Given the description of an element on the screen output the (x, y) to click on. 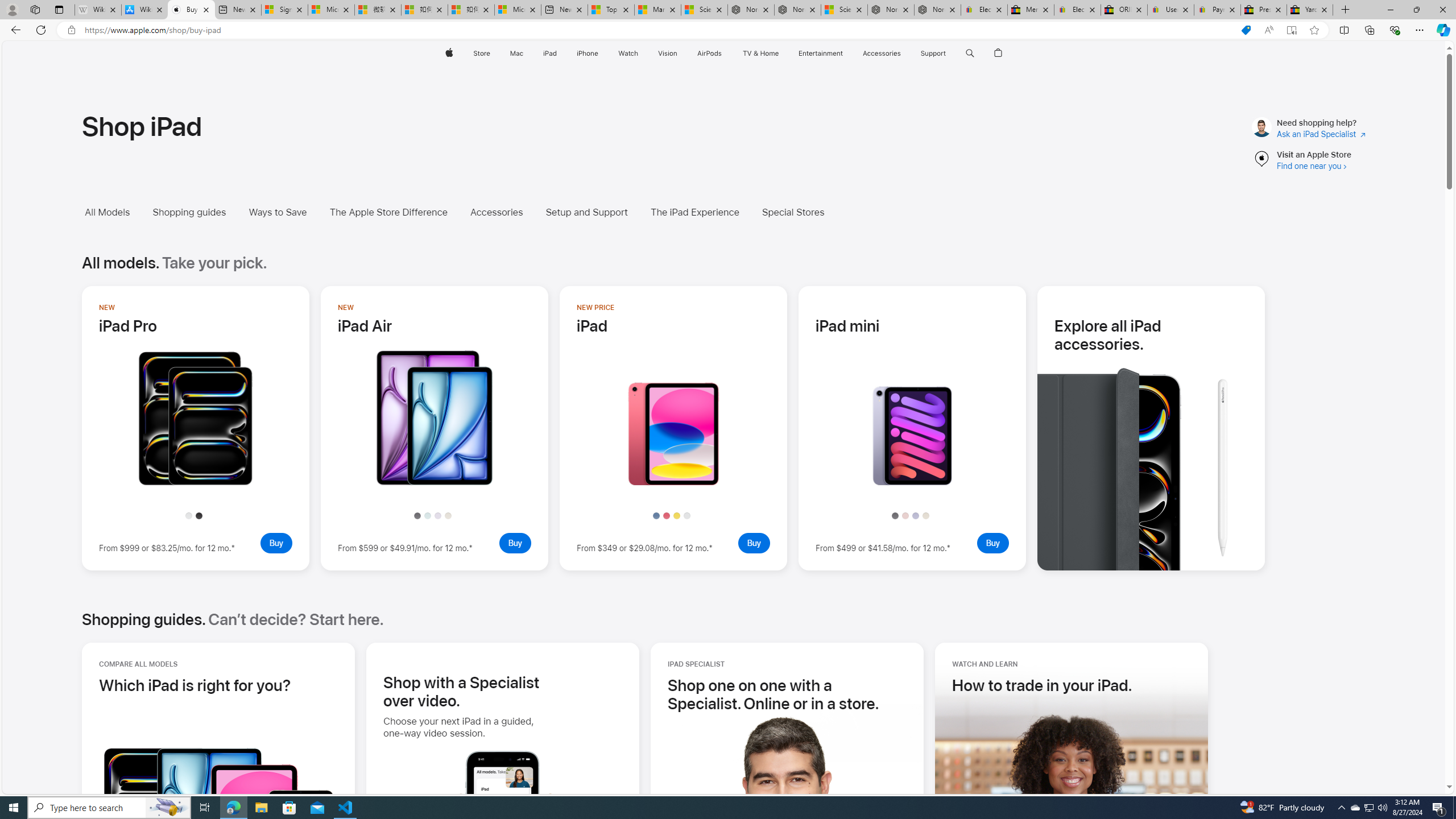
Shopping guides (188, 212)
Silver (687, 515)
All Models (106, 212)
Top Stories - MSN (610, 9)
Microsoft account | Account Checkup (517, 9)
Watch (627, 53)
Support (932, 53)
Entertainment (820, 53)
